Given the description of an element on the screen output the (x, y) to click on. 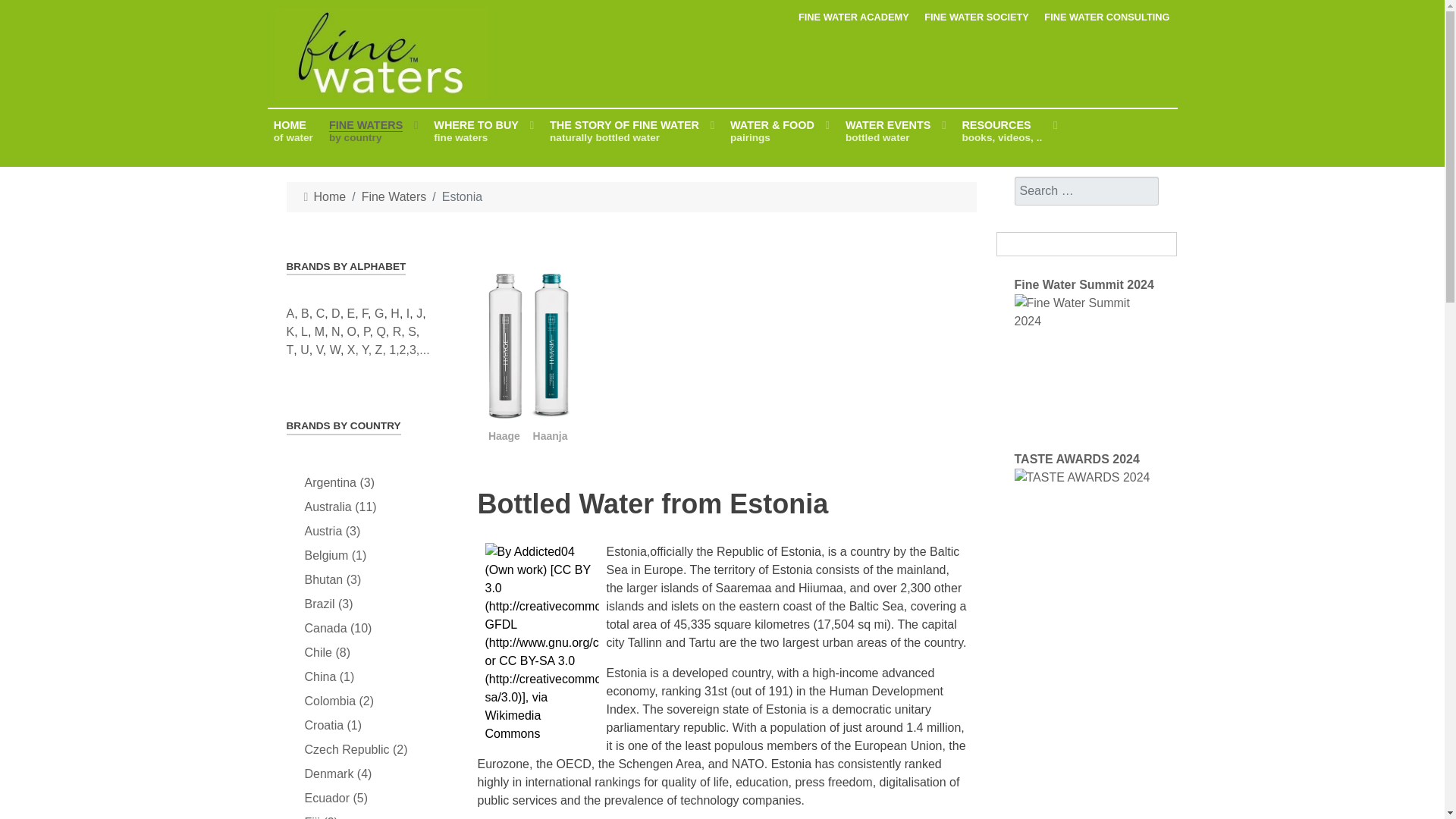
FINE WATER CONSULTING (721, 342)
FINE WATER SOCIETY (1106, 16)
FINE WATER SOCIETY (976, 16)
FINE WATER ACADEMY (373, 132)
FINE WATER ACADEMY (976, 16)
FINE WATER CONSULTING (292, 132)
